Given the description of an element on the screen output the (x, y) to click on. 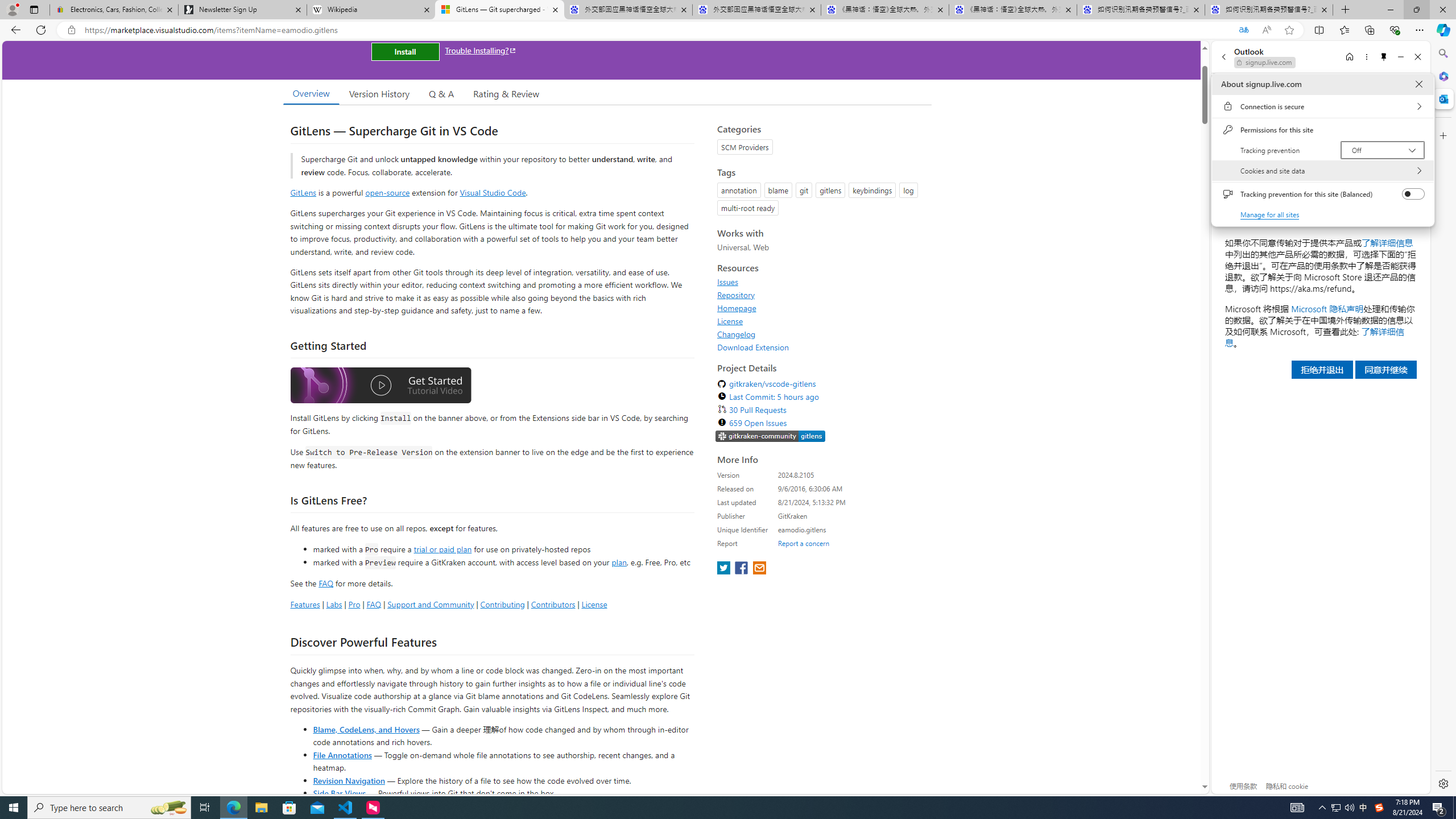
User Promoted Notification Area (1342, 807)
Microsoft Store (289, 807)
AutomationID: 4105 (1297, 807)
File Explorer (261, 807)
Running applications (707, 807)
Search highlights icon opens search home window (167, 807)
Q2790: 100% (1349, 807)
Type here to search (108, 807)
Connection is secure (1322, 105)
Task View (204, 807)
